Given the description of an element on the screen output the (x, y) to click on. 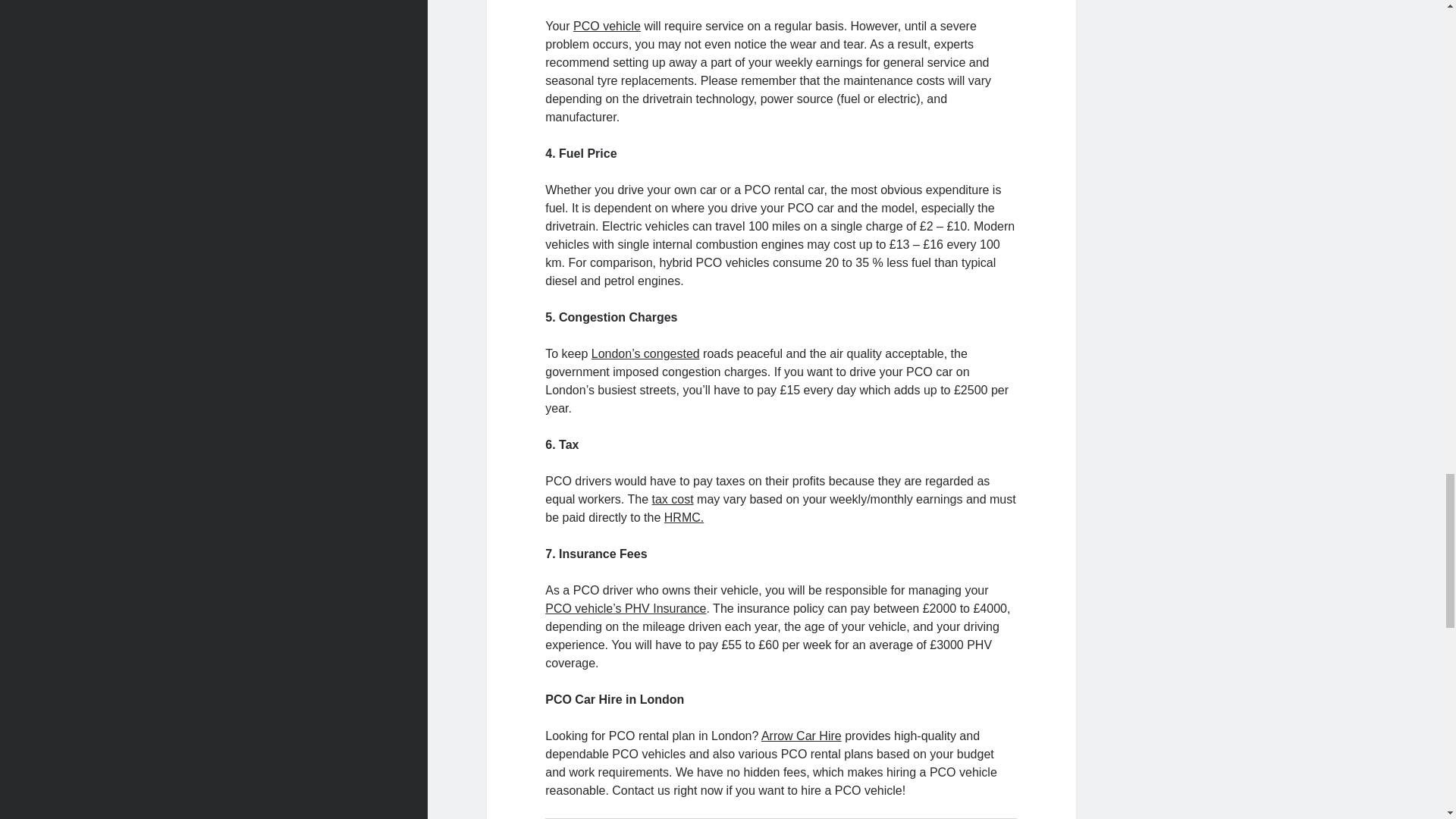
tax cost (671, 499)
HRMC. (683, 517)
PCO vehicle (606, 25)
Arrow Car Hire (801, 735)
